Given the description of an element on the screen output the (x, y) to click on. 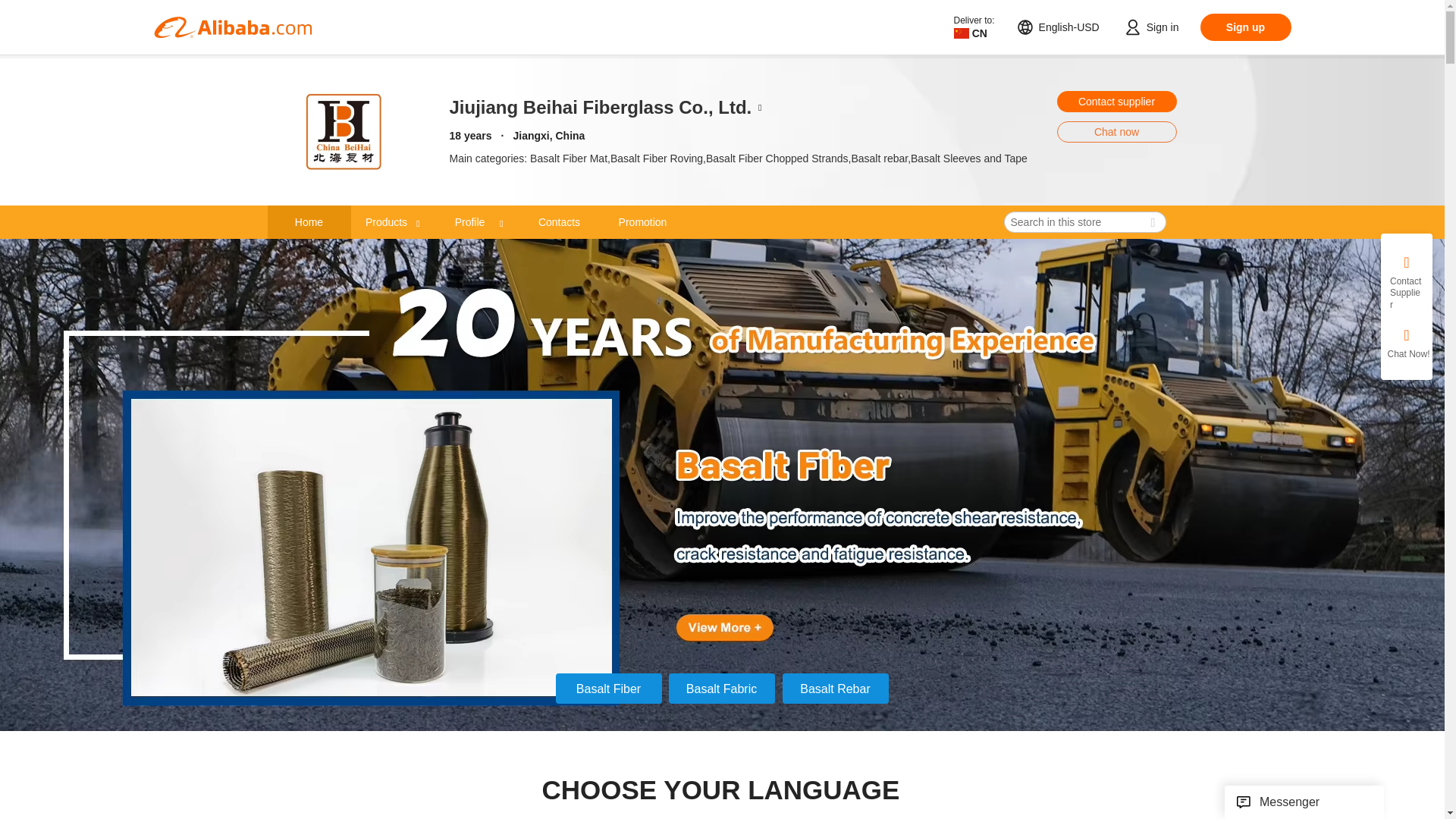
Contact supplier (1116, 101)
Contact supplier (1116, 101)
Home (308, 222)
Home (309, 222)
Products (391, 222)
Chat now (1116, 131)
Products (386, 222)
